Given the description of an element on the screen output the (x, y) to click on. 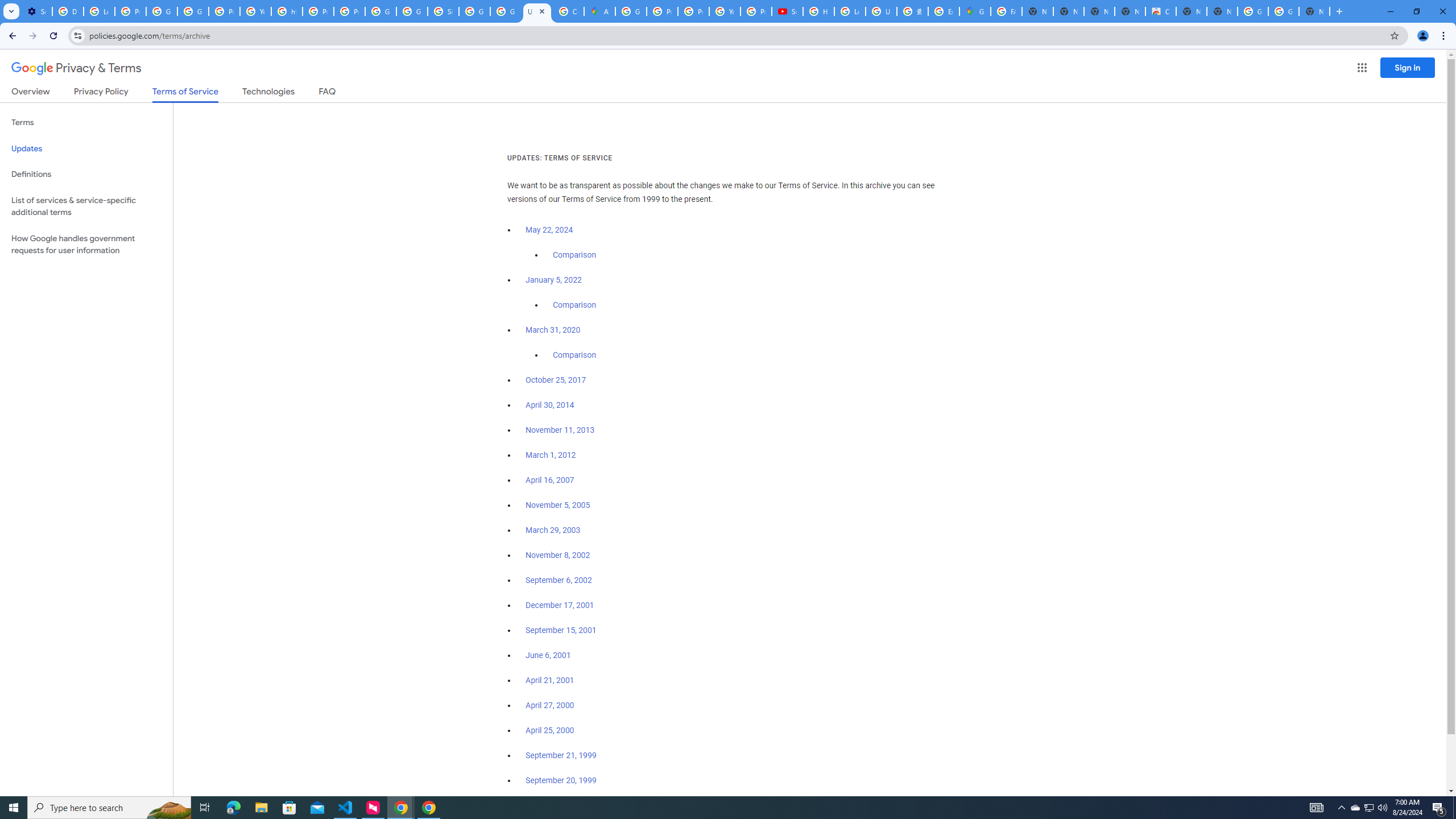
Google Maps (974, 11)
How Chrome protects your passwords - Google Chrome Help (818, 11)
Learn how to find your photos - Google Photos Help (98, 11)
September 21, 1999 (560, 755)
April 16, 2007 (550, 480)
YouTube (724, 11)
March 1, 2012 (550, 455)
November 11, 2013 (560, 430)
Create your Google Account (568, 11)
Technologies (268, 93)
Google Account Help (192, 11)
